Given the description of an element on the screen output the (x, y) to click on. 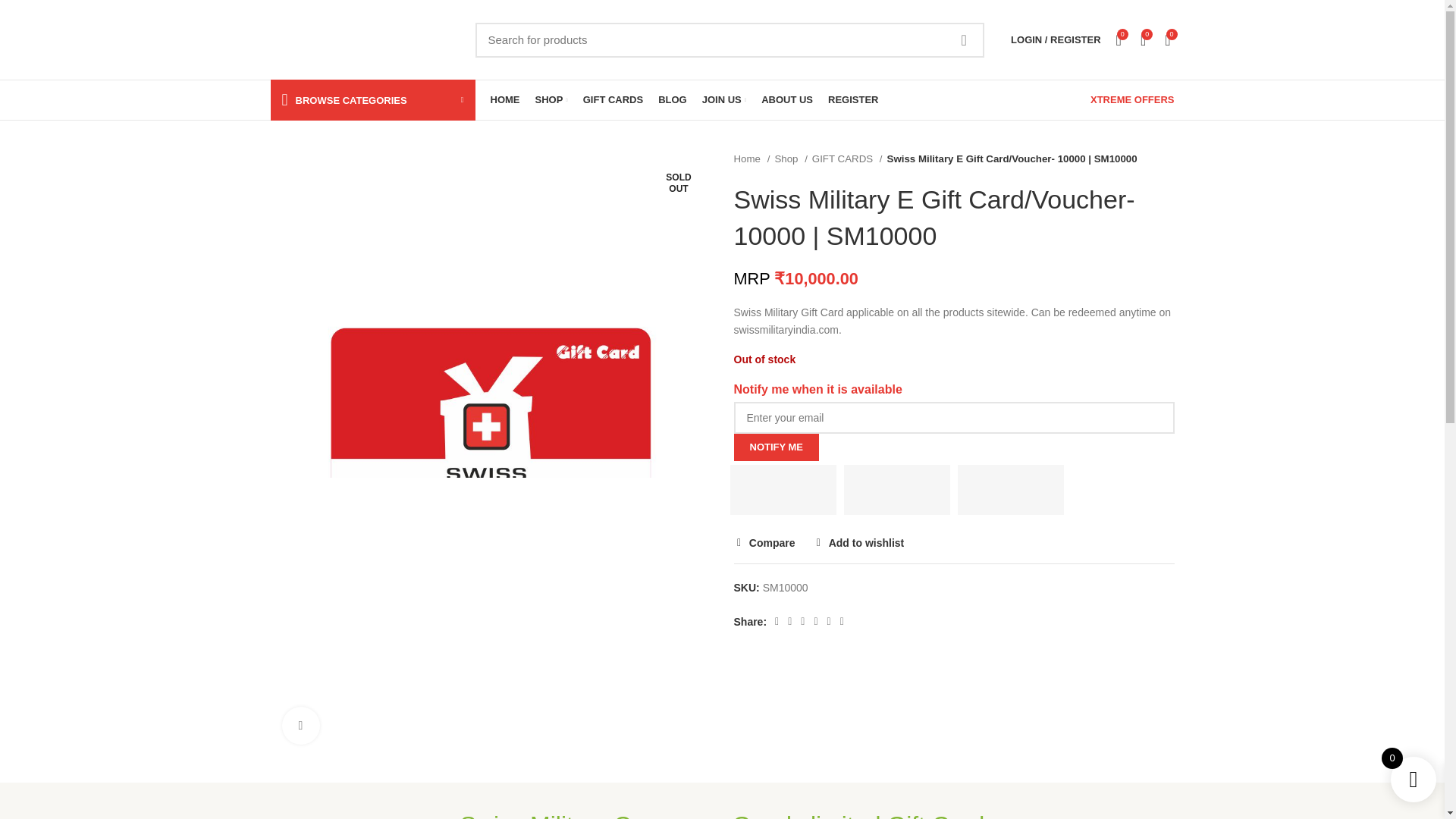
My account (1055, 39)
SEARCH (963, 39)
Search for products (729, 39)
Log in (975, 278)
